Given the description of an element on the screen output the (x, y) to click on. 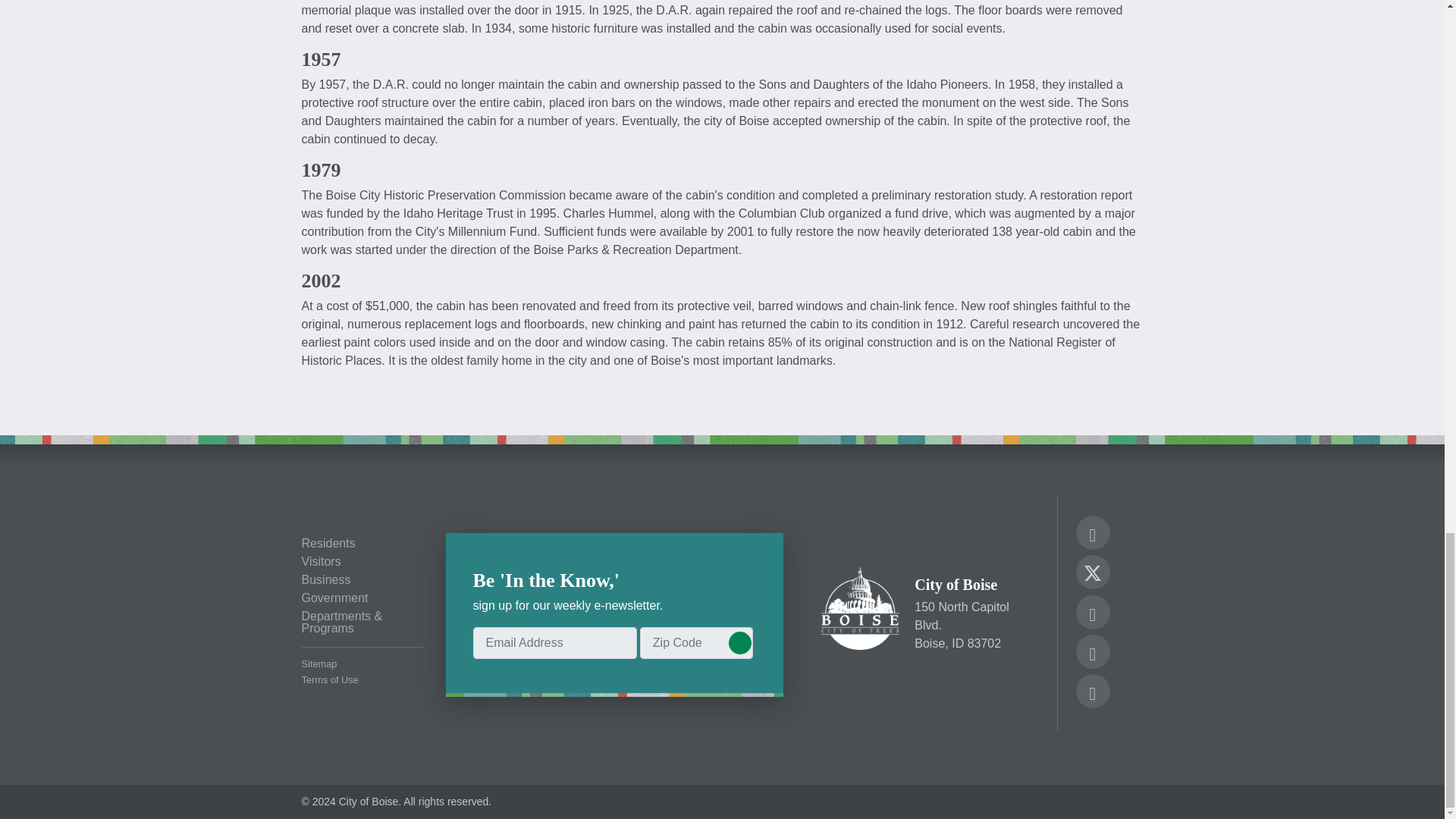
Business (362, 580)
Government (362, 598)
Twitter (1092, 571)
YouTube (1092, 653)
Sitemap (362, 664)
LinkedIn (1092, 693)
Visitors (362, 562)
Instagram (1092, 614)
Residents (362, 543)
Facebook (1092, 534)
Submit (739, 642)
Terms of Use (362, 680)
